Given the description of an element on the screen output the (x, y) to click on. 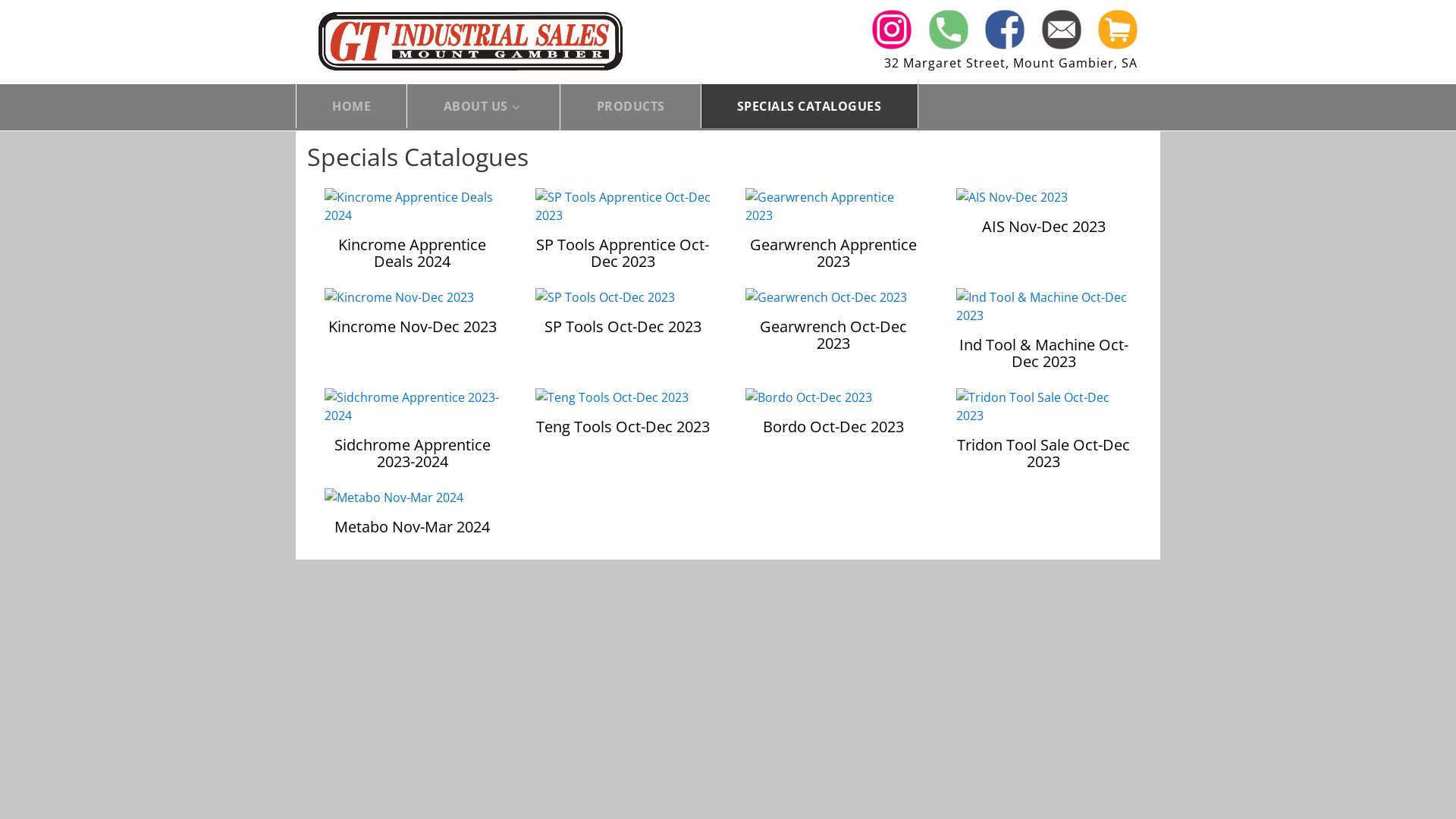
SPECIALS CATALOGUES Element type: text (809, 106)
AIS Nov-Dec 2023 Element type: hover (1011, 197)
Tridon Tool Sale Oct-Dec 2023 Element type: hover (1043, 406)
Sidchrome Apprentice 2023-2024 Element type: text (412, 436)
Tridon Tool Sale Oct-Dec 2023 Element type: text (1043, 436)
Ind Tool & Machine Oct-Dec 2023 Element type: hover (1043, 306)
Shop Element type: hover (1117, 29)
Kincrome Apprentice Deals 2024 Element type: text (412, 236)
Teng Tools Oct-Dec 2023 Element type: hover (611, 397)
Ind Tool & Machine Oct-Dec 2023 Element type: text (1043, 336)
Sidchrome Apprentice 2023-2024 Element type: hover (412, 406)
SP Tools Oct-Dec 2023 Element type: hover (604, 297)
Kincrome Apprentice Deals 2024 Element type: hover (412, 206)
Gearwrench Oct-Dec 2023 Element type: hover (826, 297)
Bordo Oct-Dec 2023 Element type: text (833, 414)
Kincrome Nov-Dec 2023 Element type: hover (399, 297)
Gearwrench Apprentice 2023 Element type: text (833, 236)
Phone Element type: hover (948, 29)
SP Tools Apprentice Oct-Dec 2023 Element type: text (623, 236)
Facebook Element type: hover (1004, 29)
Kincrome Nov-Dec 2023 Element type: text (412, 314)
Bordo Oct-Dec 2023 Element type: hover (808, 397)
Metabo Nov-Mar 2024 Element type: hover (393, 497)
Mail Element type: hover (1061, 29)
Gearwrench Oct-Dec 2023 Element type: text (833, 322)
Teng Tools Oct-Dec 2023 Element type: text (623, 414)
SP Tools Oct-Dec 2023 Element type: text (623, 314)
AIS Nov-Dec 2023 Element type: text (1043, 214)
Gearwrench Apprentice 2023 Element type: hover (833, 206)
ABOUT US Element type: text (475, 106)
Metabo Nov-Mar 2024 Element type: text (412, 514)
Instagram Element type: hover (891, 29)
SP Tools Apprentice Oct-Dec 2023 Element type: hover (623, 206)
PRODUCTS Element type: text (630, 106)
HOME Element type: text (351, 106)
